Given the description of an element on the screen output the (x, y) to click on. 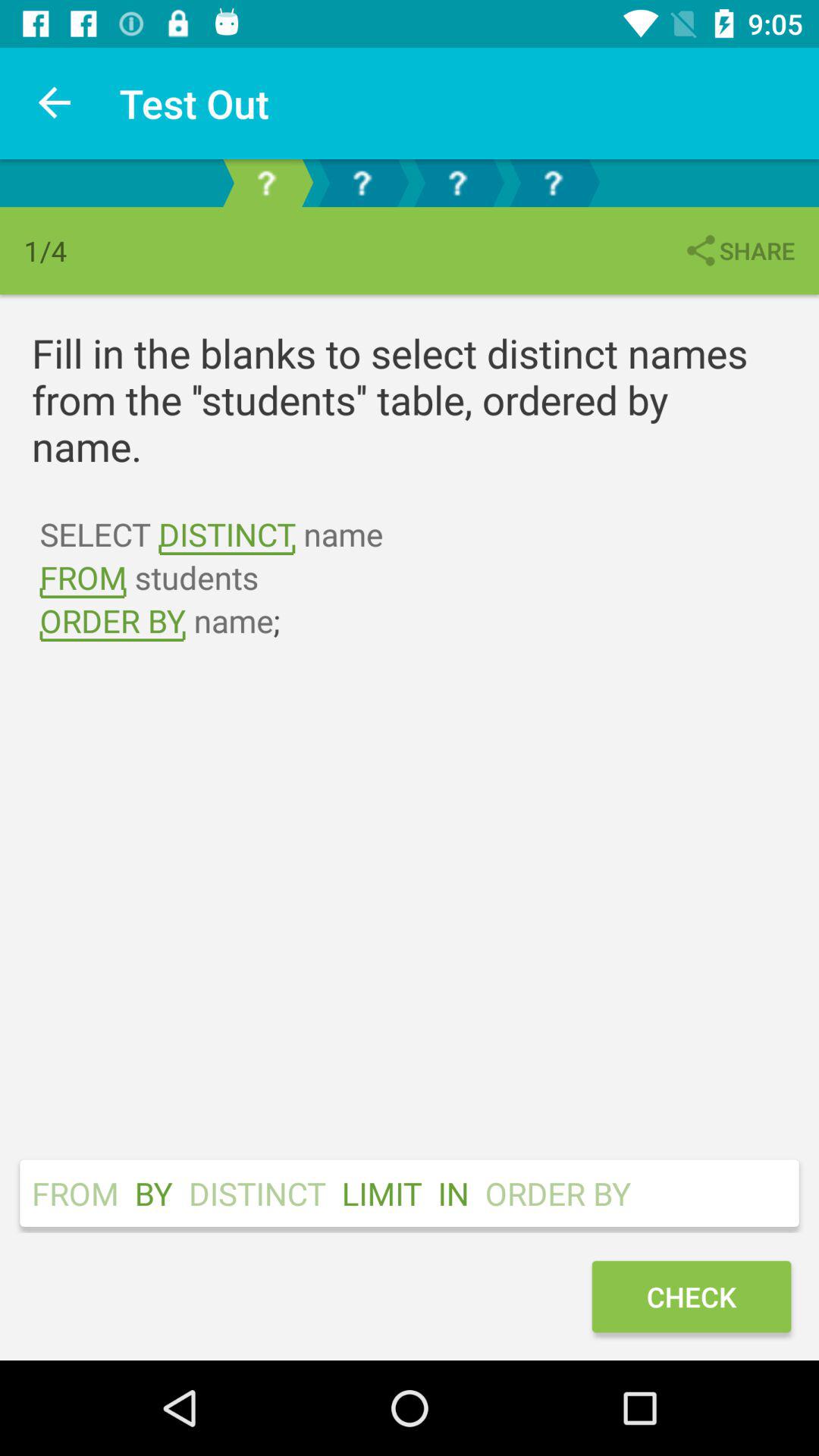
tap the item above 1/4 item (55, 103)
